Given the description of an element on the screen output the (x, y) to click on. 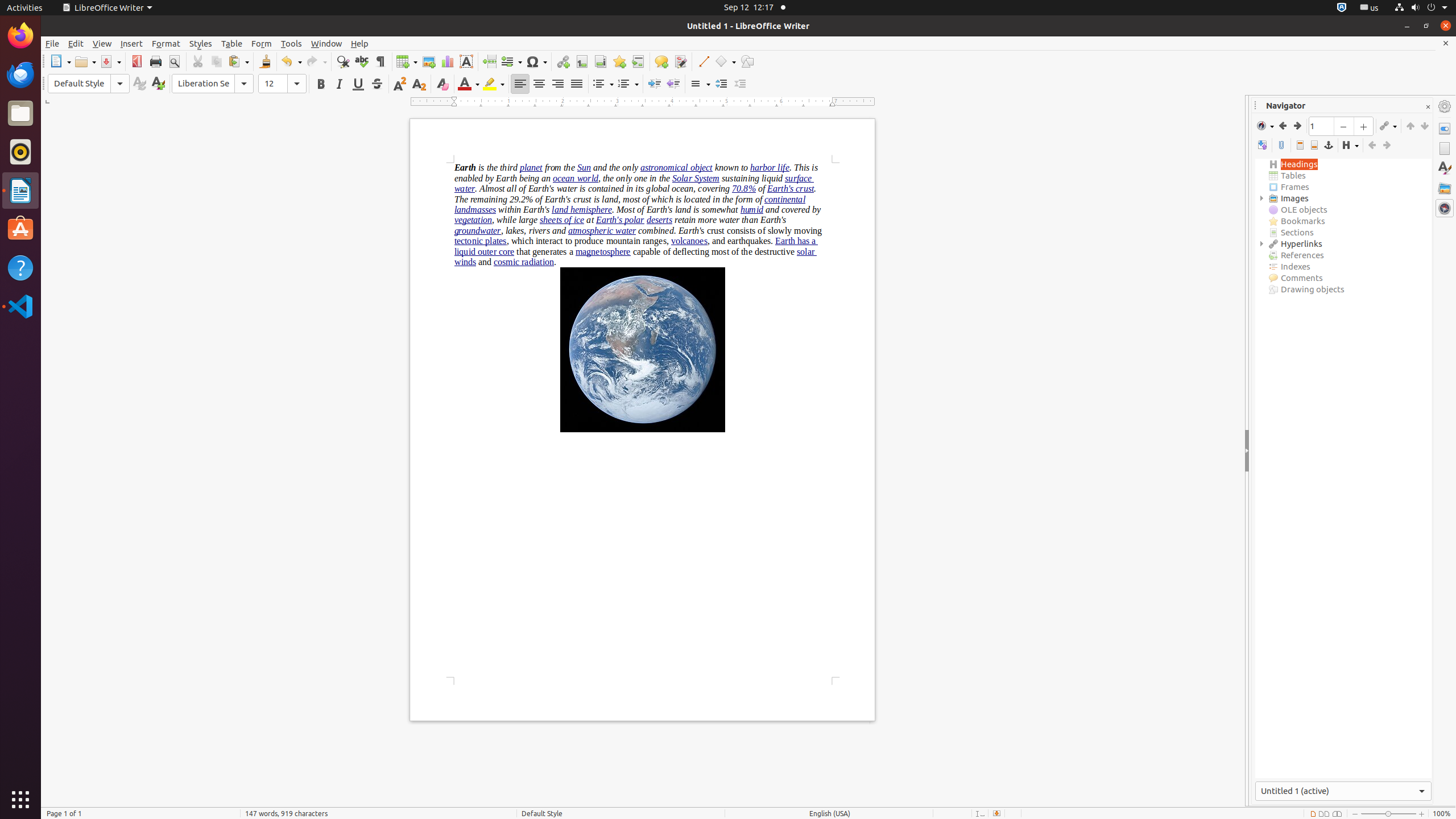
Thunderbird Mail Element type: push-button (20, 74)
Visual Studio Code Element type: push-button (20, 306)
Soffice Element type: push-button (20, 344)
Ubuntu Software Element type: push-button (20, 229)
